Given the description of an element on the screen output the (x, y) to click on. 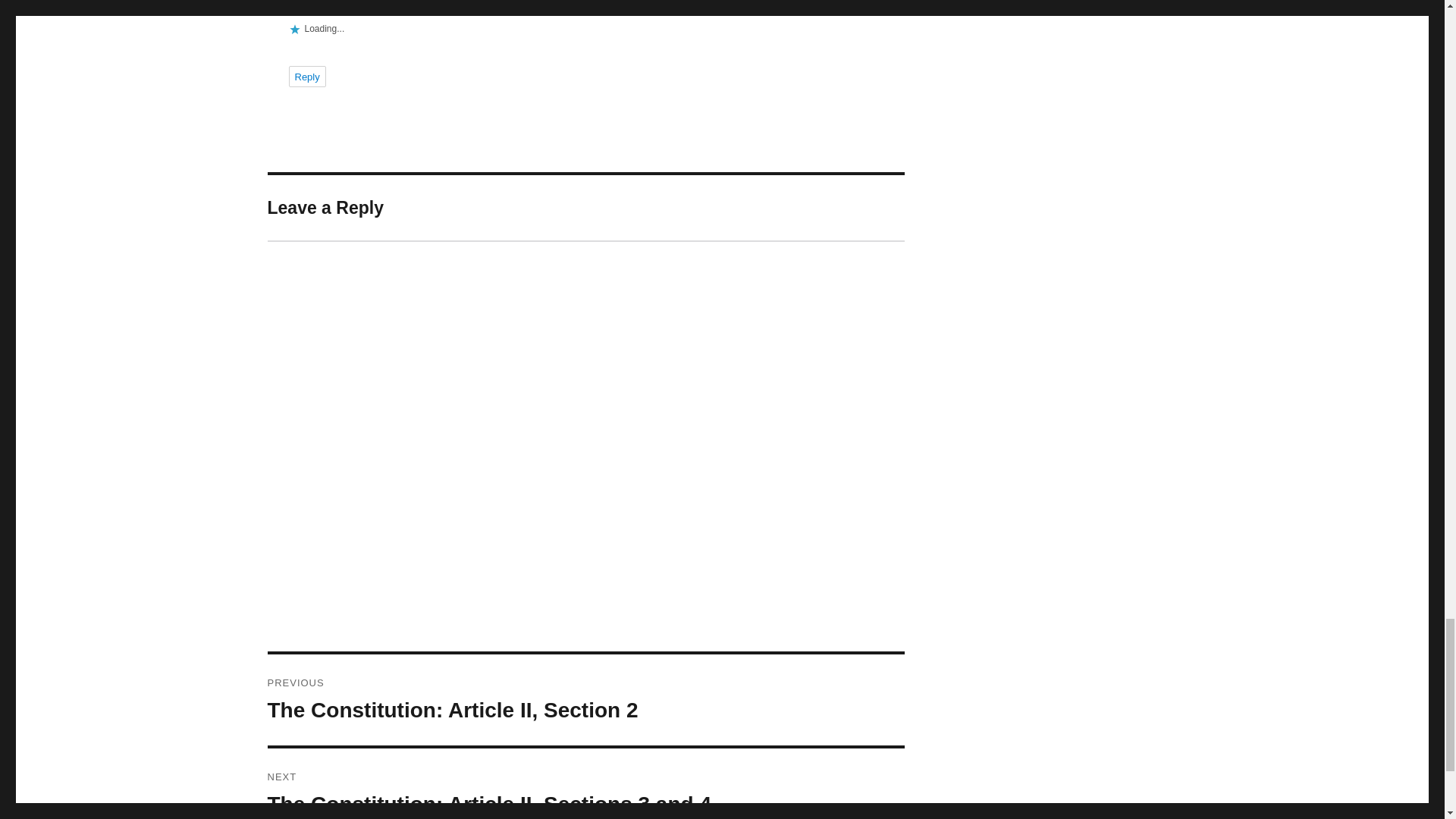
Reply (306, 76)
